Given the description of an element on the screen output the (x, y) to click on. 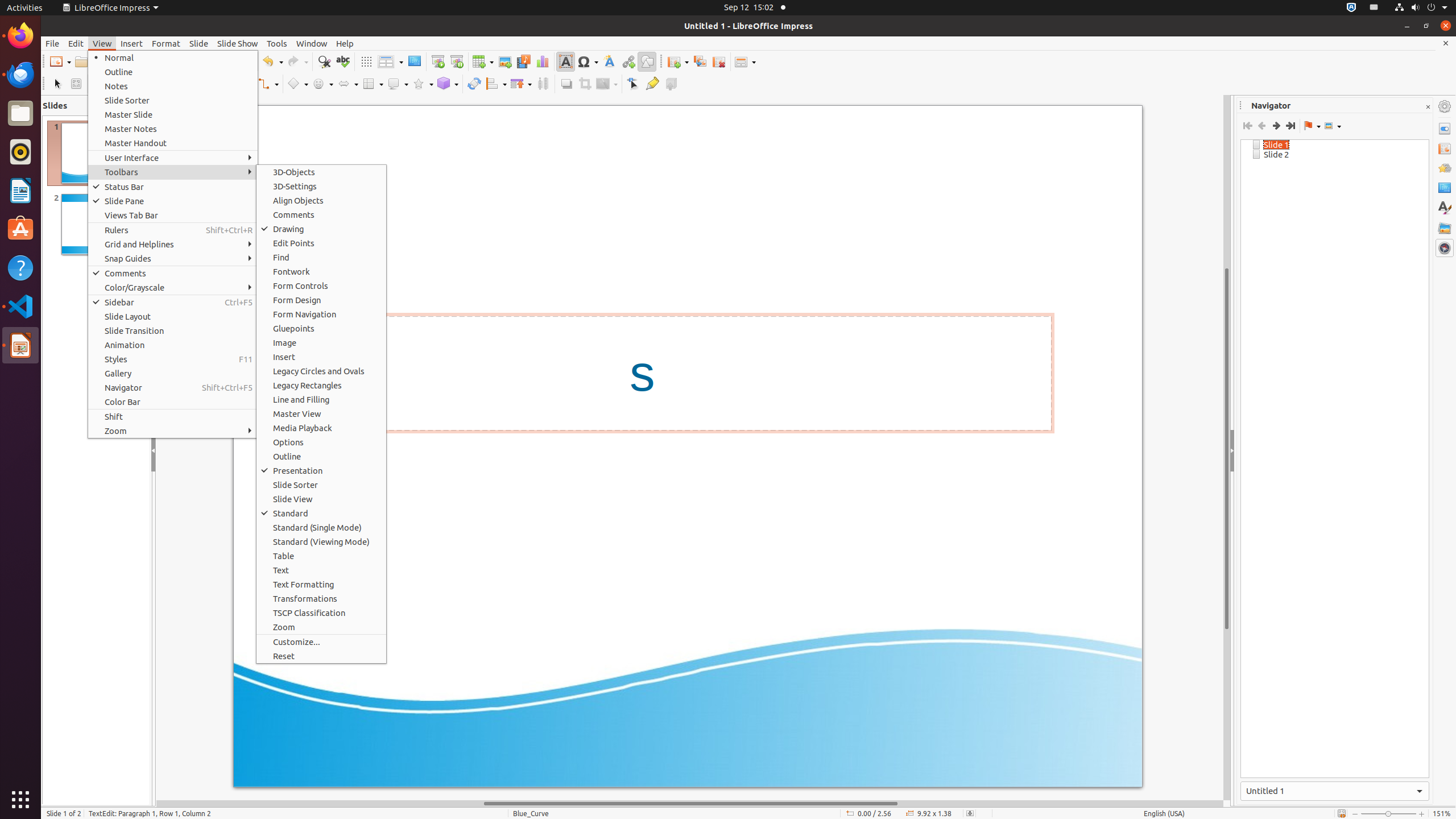
Master Slides Element type: radio-button (1444, 188)
Color/Grayscale Element type: menu (172, 287)
Last Slide Element type: push-button (1290, 125)
Window Element type: menu (311, 43)
Master Slide Element type: radio-menu-item (172, 114)
